Given the description of an element on the screen output the (x, y) to click on. 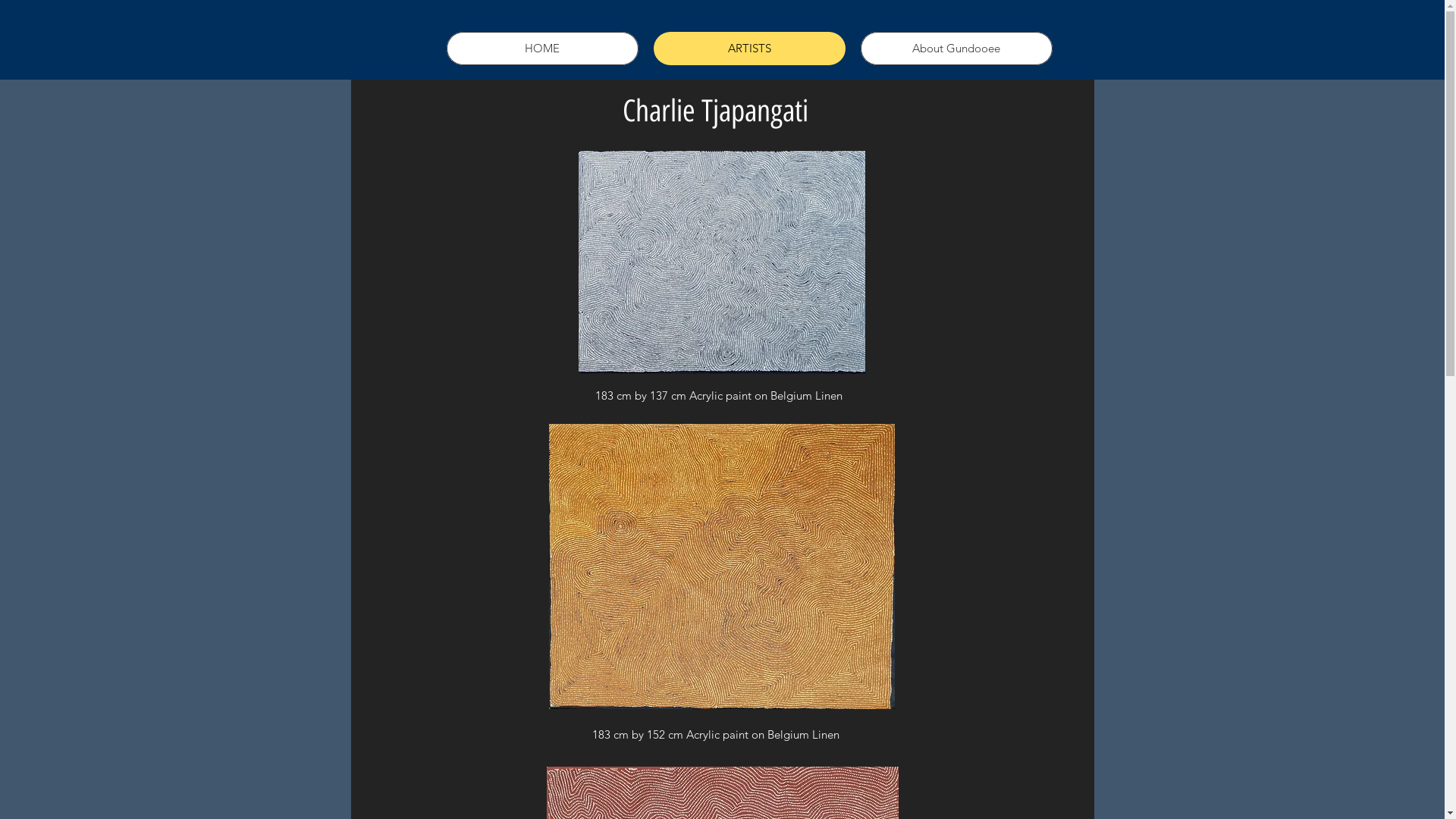
About Gundooee Element type: text (955, 48)
HOME Element type: text (541, 48)
ARTISTS Element type: text (749, 48)
